Given the description of an element on the screen output the (x, y) to click on. 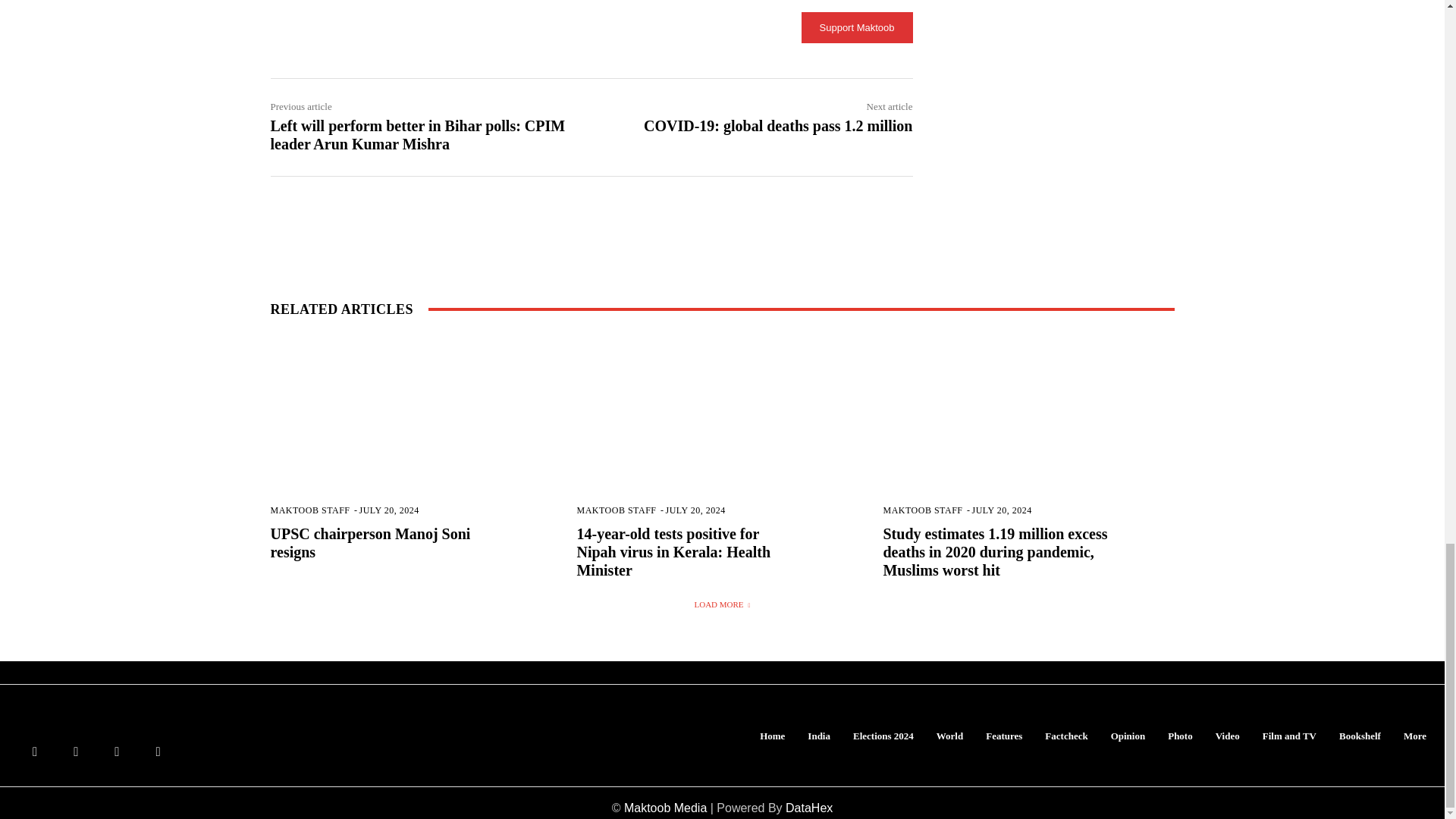
Support Maktoob (857, 27)
